Given the description of an element on the screen output the (x, y) to click on. 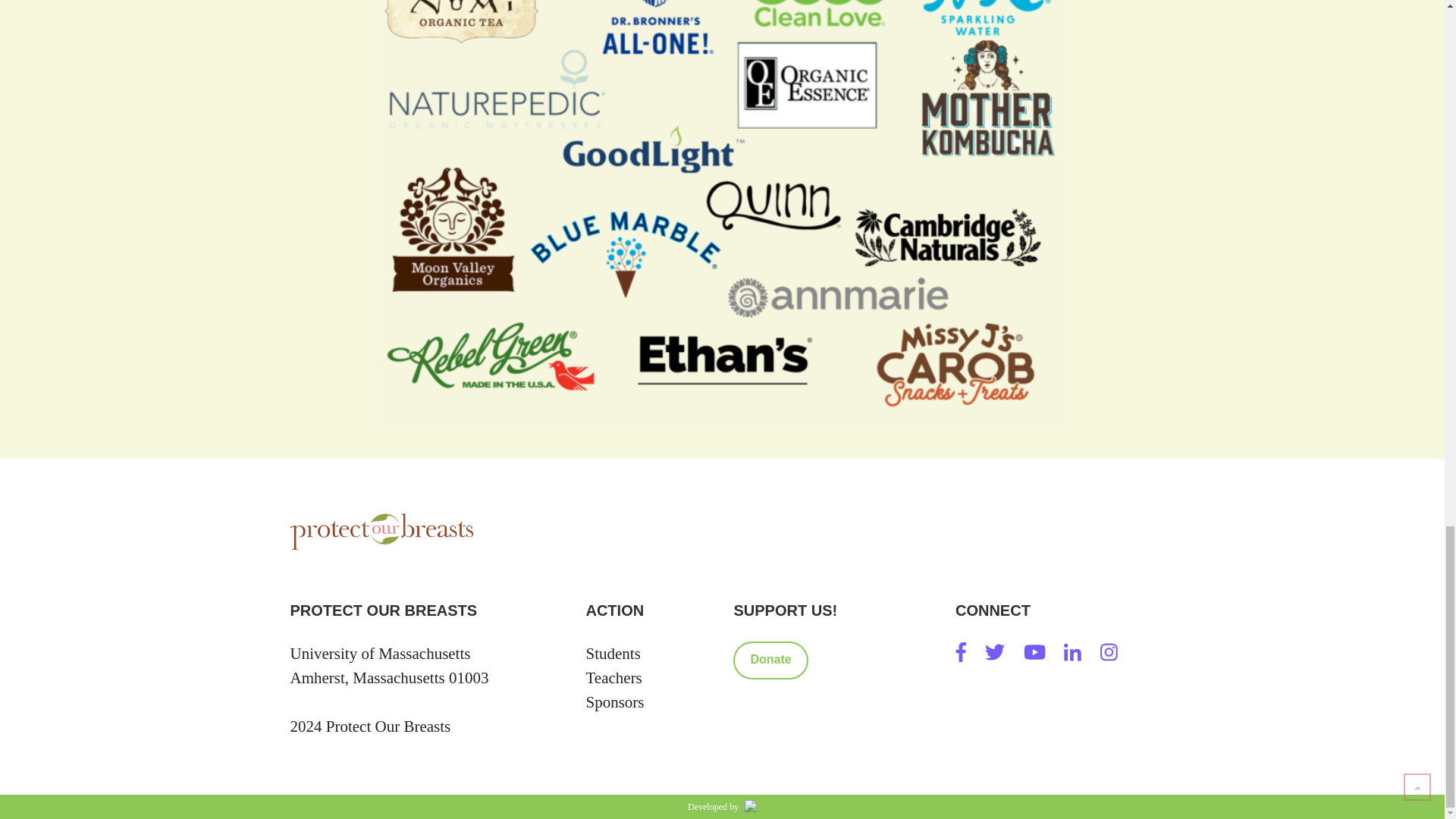
Donate (770, 660)
Sponsors (614, 701)
Students (612, 653)
Teachers (613, 678)
